Given the description of an element on the screen output the (x, y) to click on. 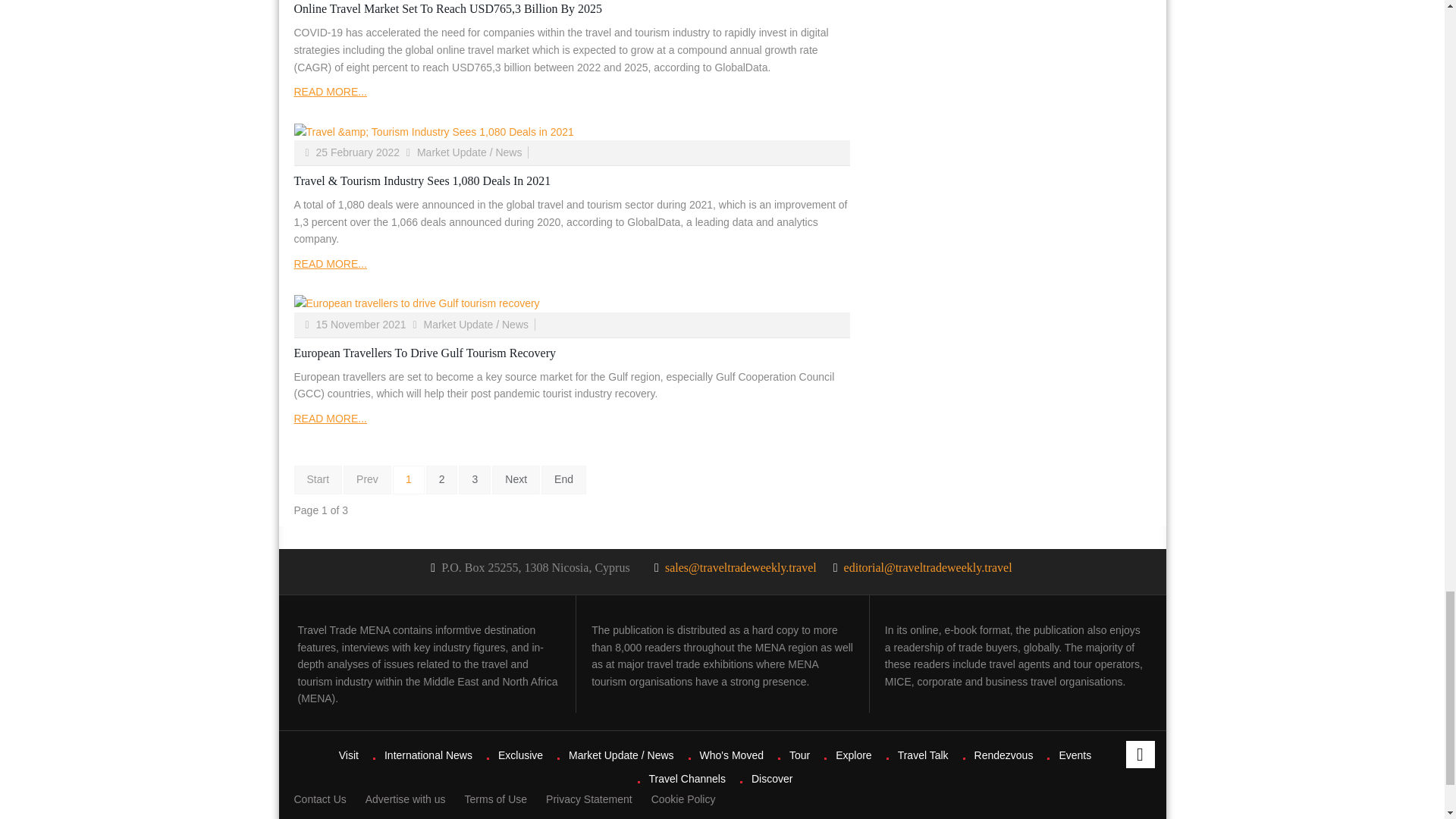
Next (516, 480)
3 (474, 480)
2 (442, 480)
European travellers to drive Gulf tourism recovery  (572, 303)
